Given the description of an element on the screen output the (x, y) to click on. 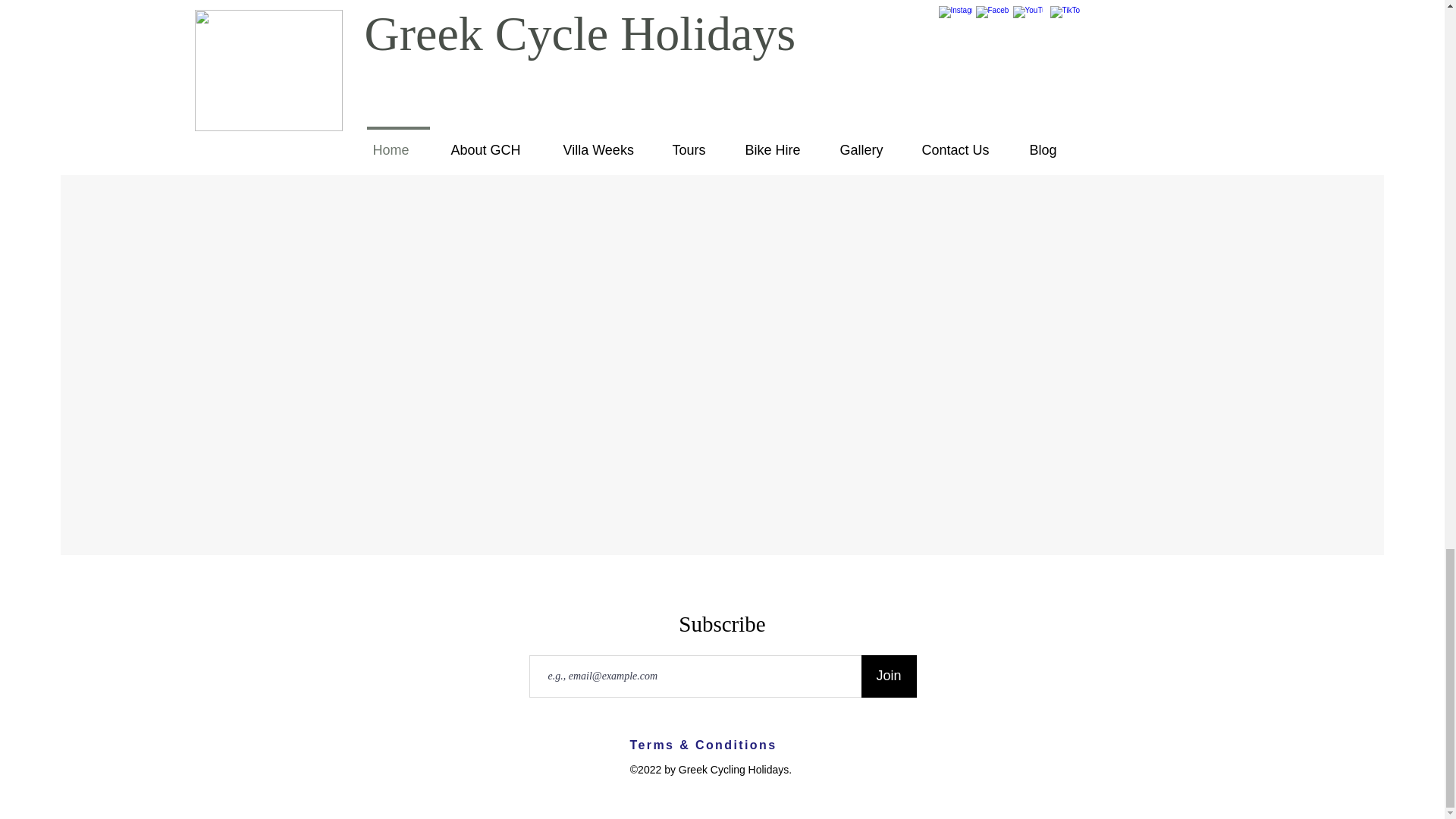
Submit (968, 70)
Join (889, 676)
